Given the description of an element on the screen output the (x, y) to click on. 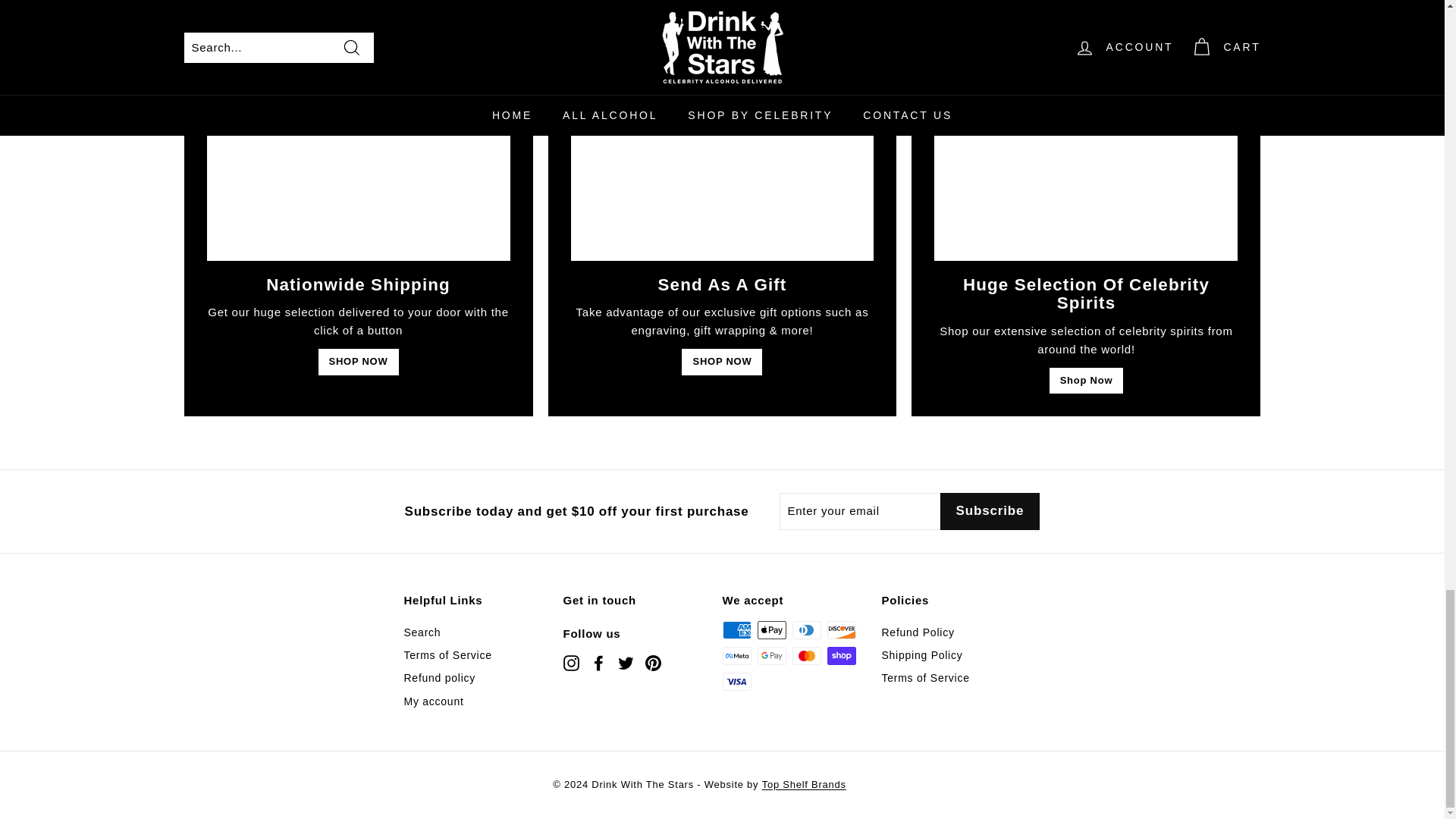
Drink With The Stars on Twitter (625, 662)
Drink With The Stars on Pinterest (653, 662)
Drink With The Stars on Facebook (597, 662)
Drink With The Stars on Instagram (570, 662)
Apple Pay (771, 629)
American Express (736, 629)
